Given the description of an element on the screen output the (x, y) to click on. 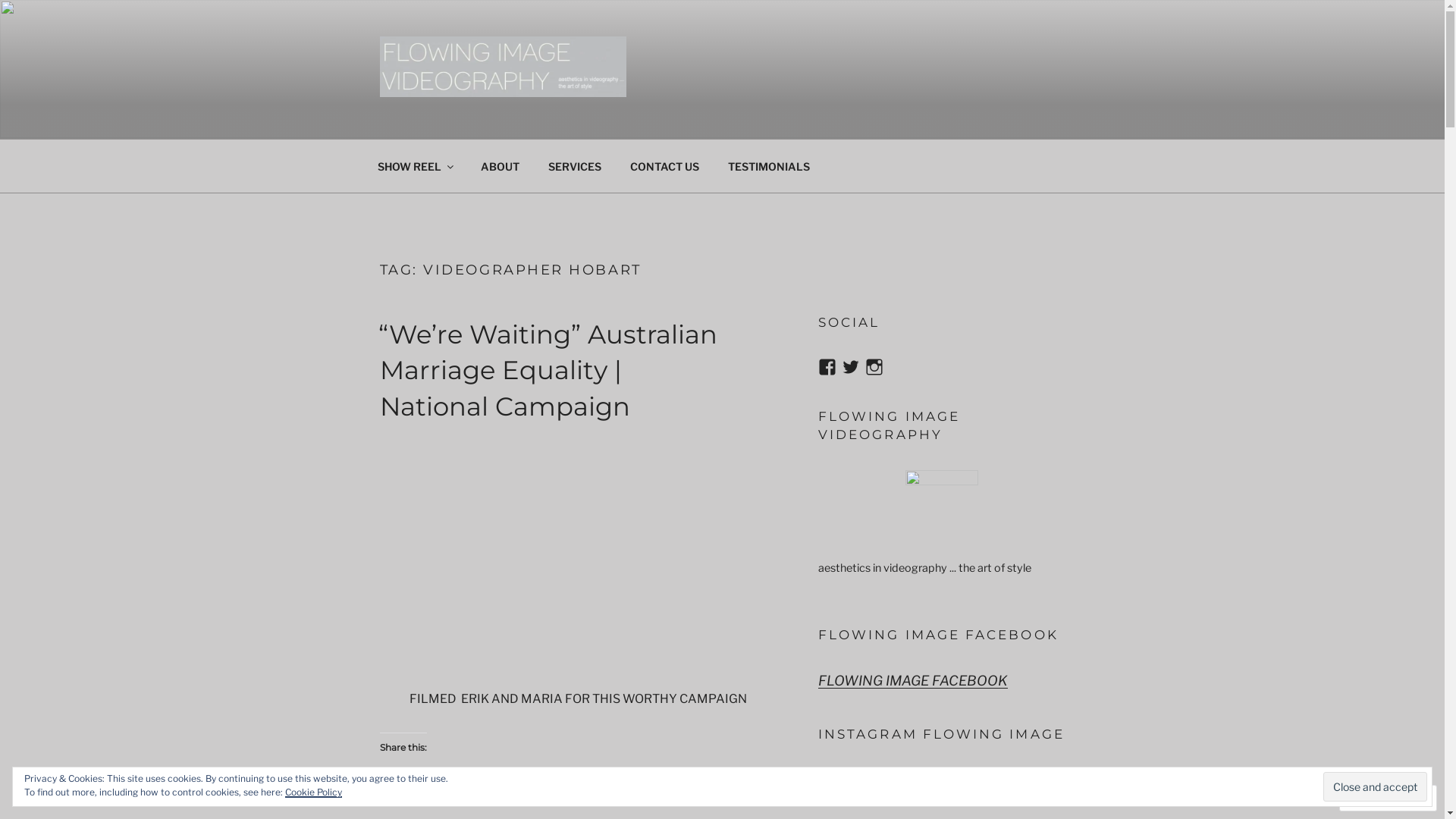
FLOWING IMAGE FACEBOOK Element type: text (912, 680)
Click to email a link to a friend (Opens in new window) Element type: text (482, 783)
CONTACT US Element type: text (664, 165)
Close and accept Element type: text (1375, 786)
SHOW REEL Element type: text (414, 165)
More Element type: text (534, 783)
Click to share on Twitter (Opens in new window) Element type: text (391, 783)
Click to share on Instagram (Opens in new window) Element type: text (451, 782)
SERVICES Element type: text (575, 165)
ABOUT Element type: text (499, 165)
Follow Element type: text (1373, 797)
FLOWING IMAGE FACEBOOK Element type: text (938, 634)
TESTIMONIALS Element type: text (768, 165)
Cookie Policy Element type: text (313, 791)
Click to share on Facebook (Opens in new window) Element type: text (421, 783)
